Given the description of an element on the screen output the (x, y) to click on. 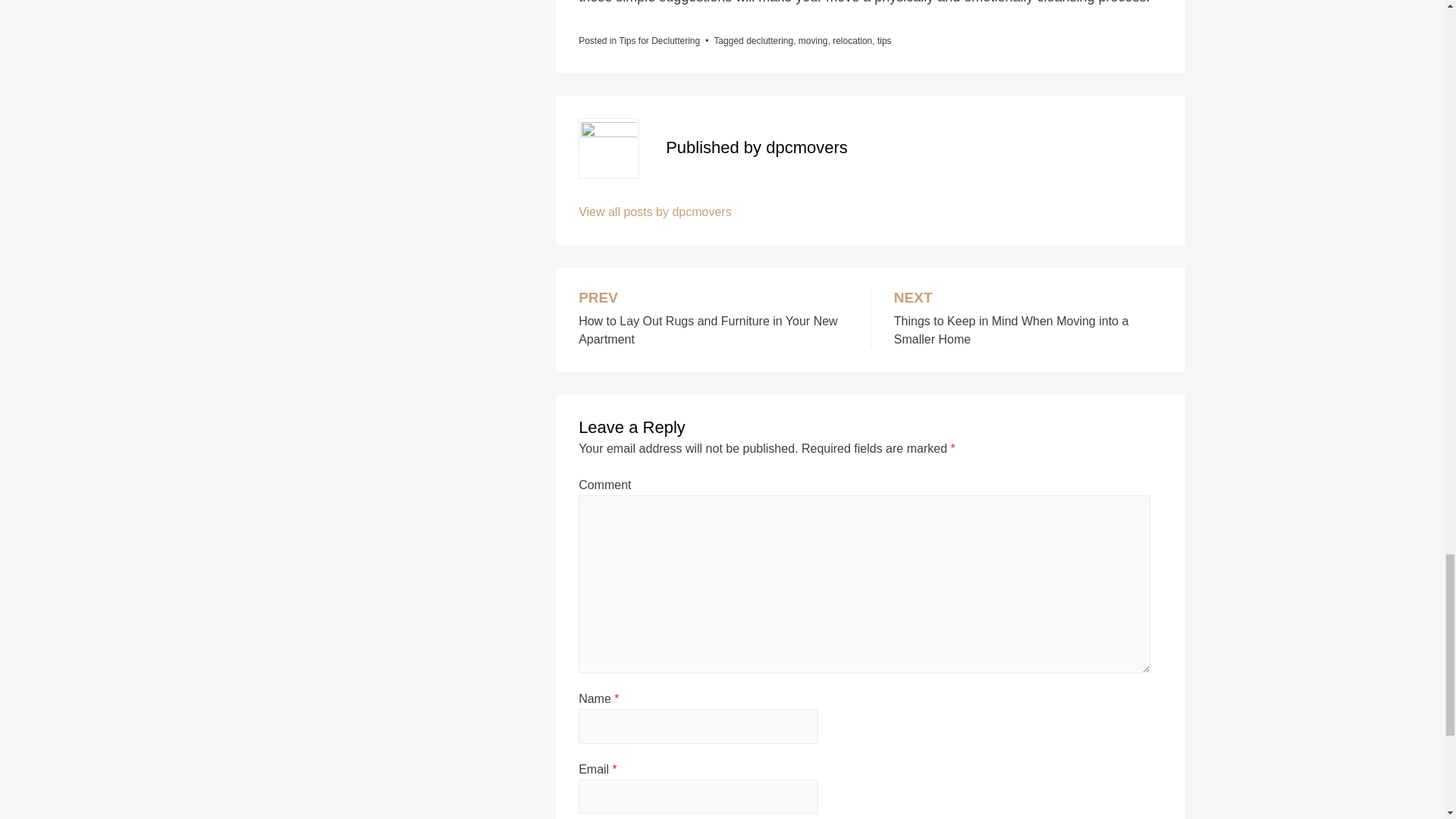
View all posts by dpcmovers (655, 211)
decluttering (1027, 319)
relocation (769, 40)
Tips for Decluttering (852, 40)
tips (659, 40)
moving (712, 319)
